Given the description of an element on the screen output the (x, y) to click on. 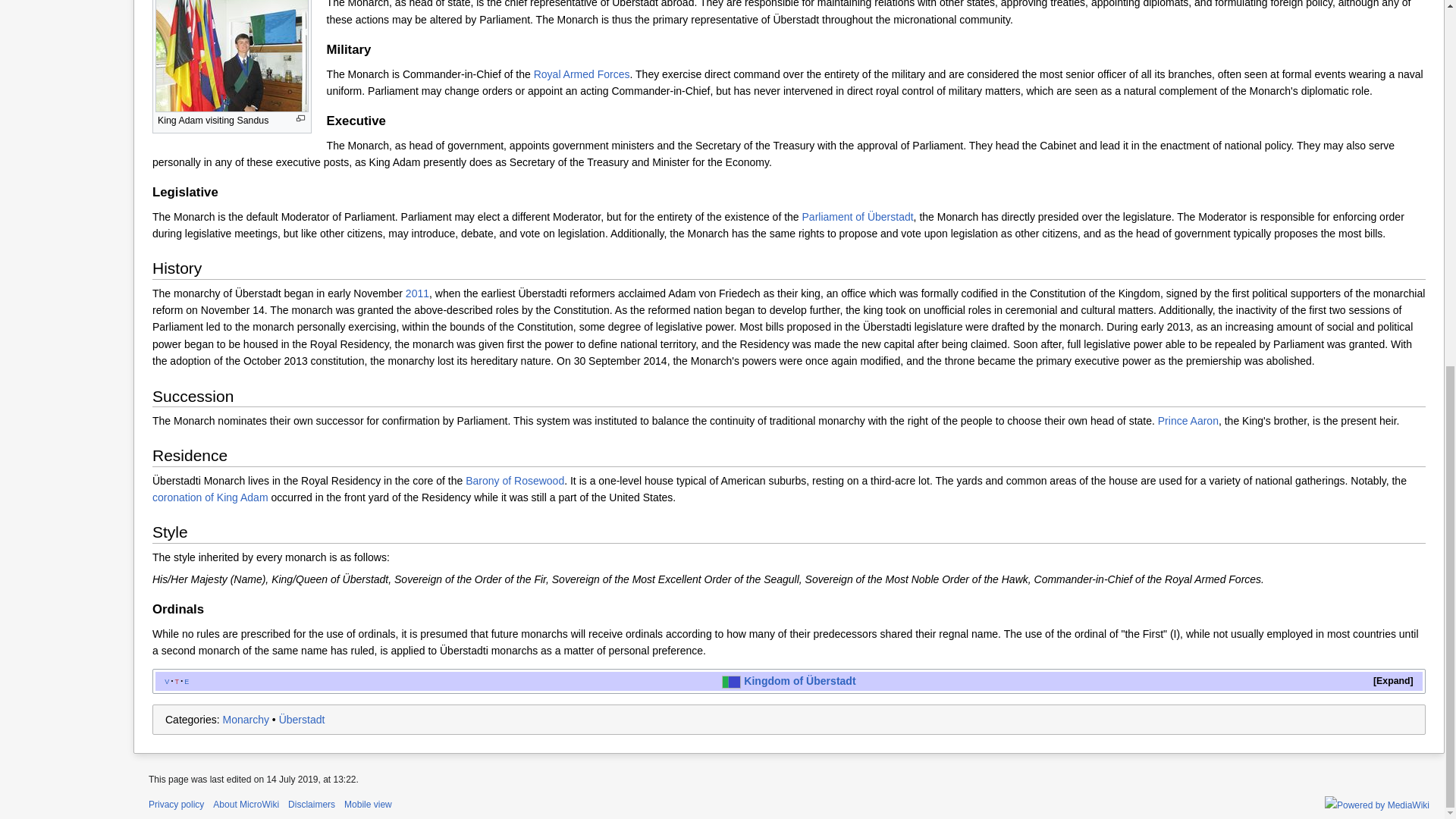
Coronation of King Adam I (209, 497)
Royal Armed Forces (582, 73)
coronation of King Adam (209, 497)
Barony of Rosewood (514, 480)
2011 (417, 293)
Prince Aaron (1187, 420)
Barony of Rosewood (514, 480)
2011 (417, 293)
